Given the description of an element on the screen output the (x, y) to click on. 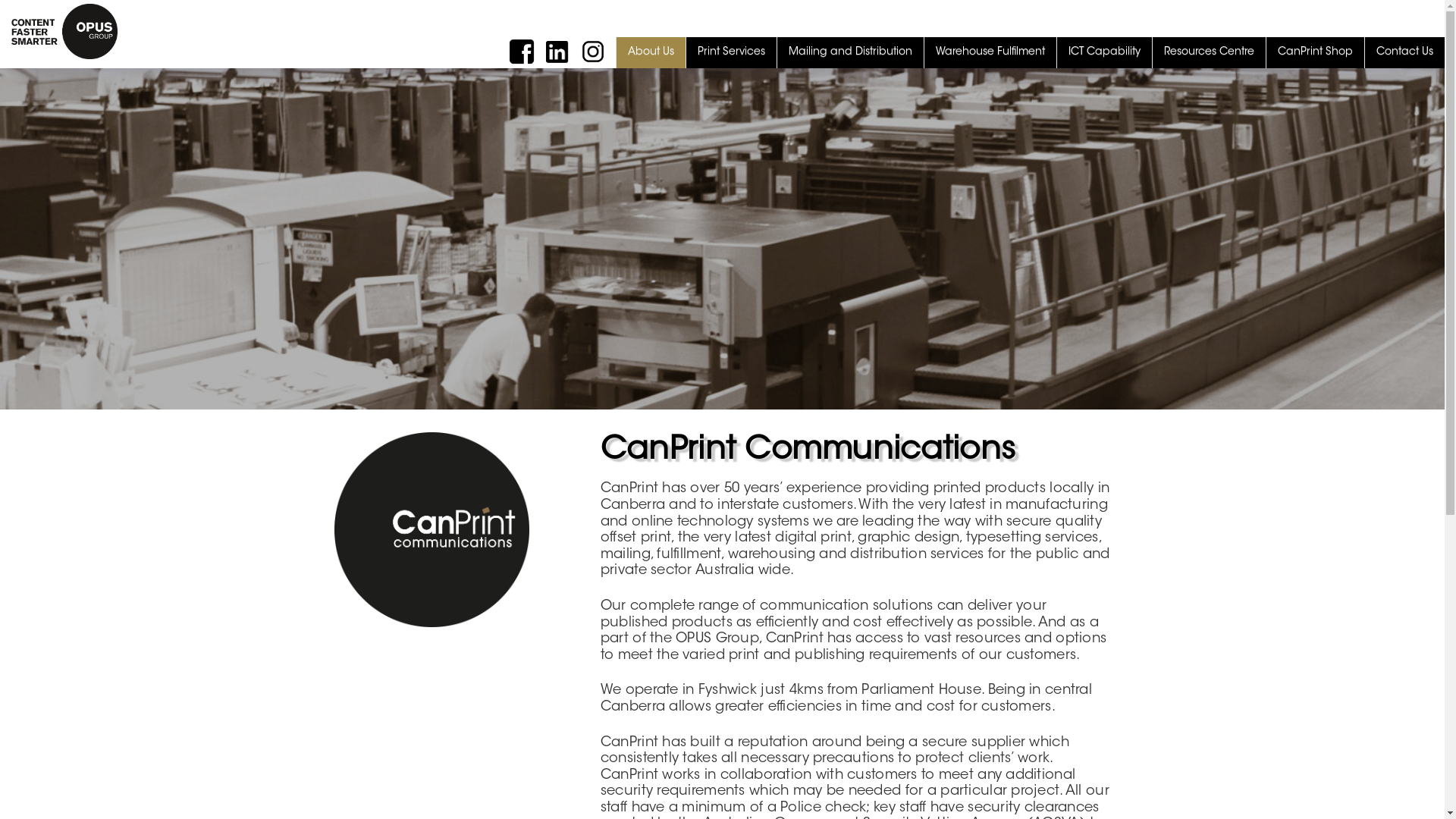
About Us Element type: text (650, 52)
ICT Capability Element type: text (1104, 52)
Mailing and Distribution Element type: text (850, 52)
CanPrint Communications Element type: hover (430, 529)
Warehouse Fulfilment Element type: text (990, 52)
Contact Us Element type: text (1404, 52)
Print Services Element type: text (731, 52)
CanPrint Shop Element type: text (1315, 52)
Resources Centre Element type: text (1208, 52)
